Given the description of an element on the screen output the (x, y) to click on. 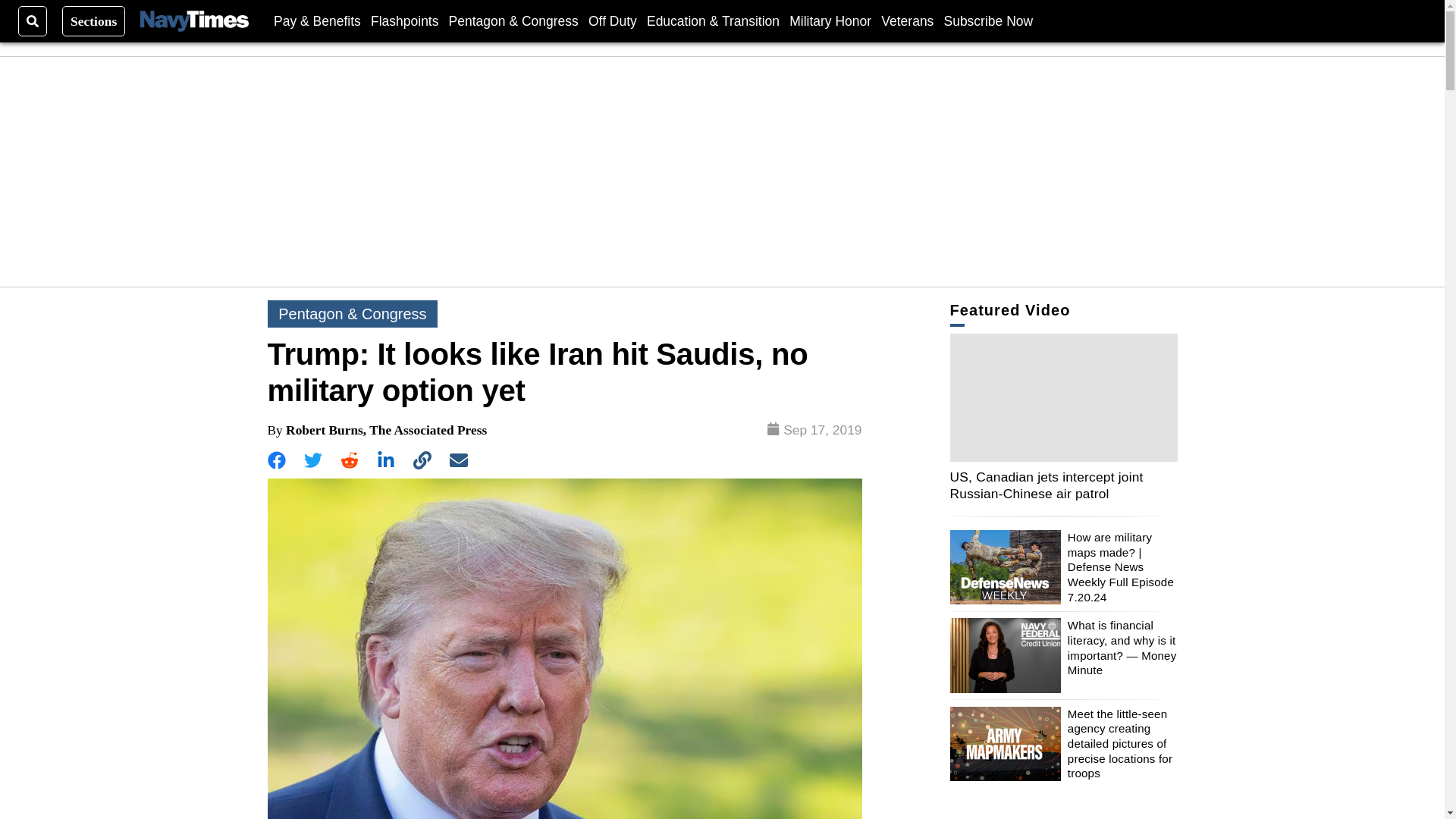
Navy Times Logo (193, 20)
Military Honor (829, 20)
Flashpoints (405, 20)
Sections (93, 20)
Off Duty (612, 20)
Veterans (906, 20)
